Given the description of an element on the screen output the (x, y) to click on. 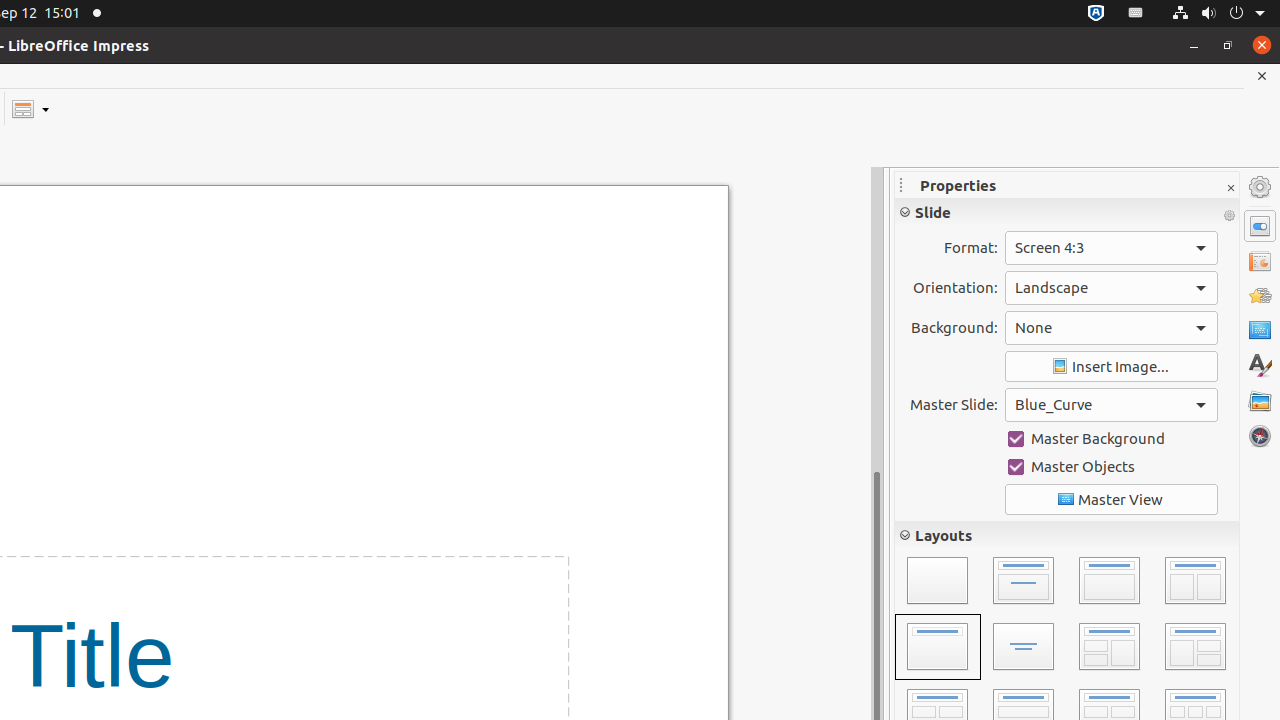
Superscript Element type: toggle-button (1195, 339)
Font Color Element type: push-button (919, 339)
Promote Element type: push-button (1170, 680)
Strikethrough Element type: toggle-button (999, 293)
Slide Transition Element type: radio-button (1260, 261)
